Given the description of an element on the screen output the (x, y) to click on. 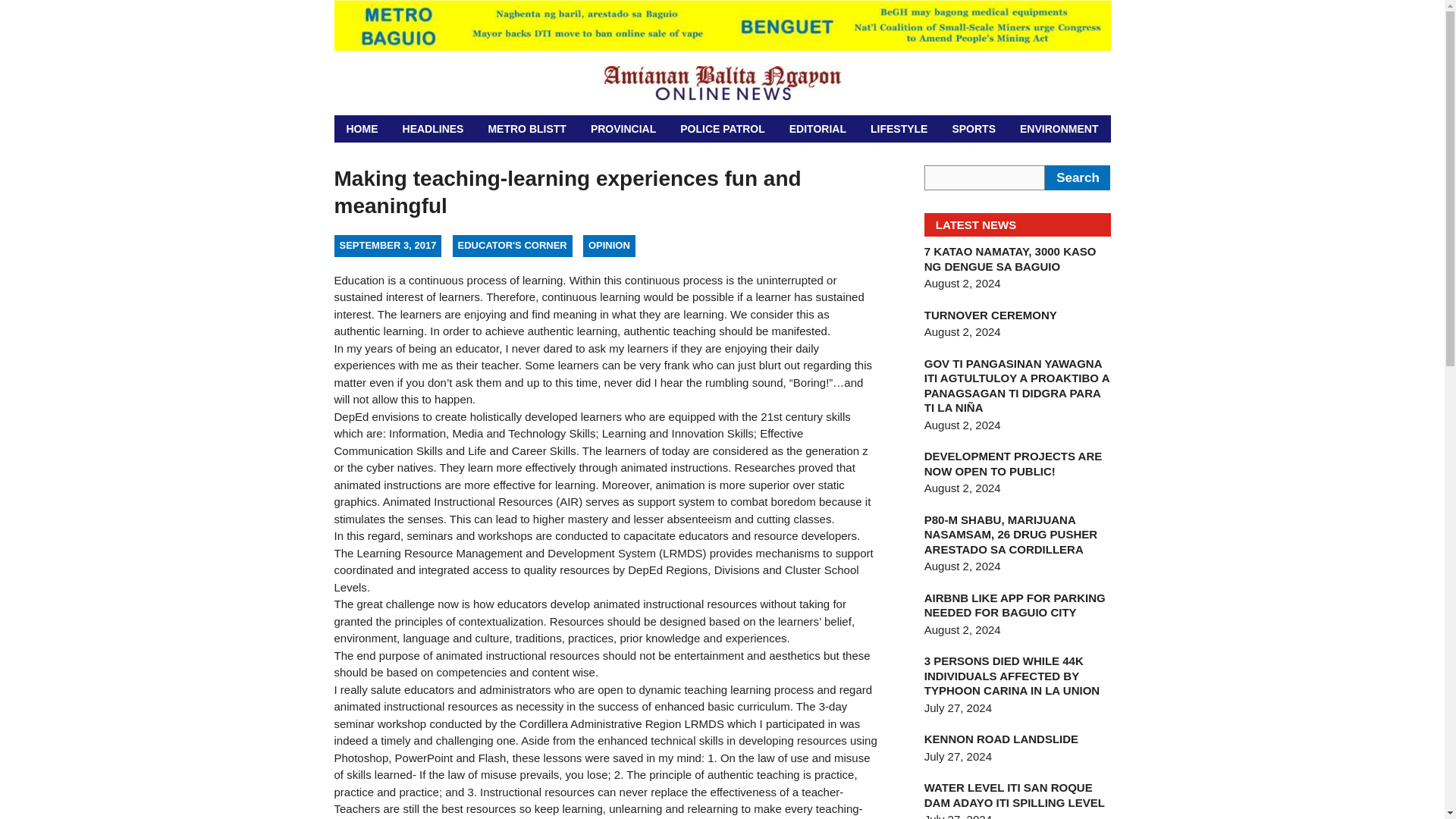
DEVELOPMENT PROJECTS ARE NOW OPEN TO PUBLIC! (1013, 463)
ENVIRONMENT (1058, 128)
KENNON ROAD LANDSLIDE (1001, 738)
TURNOVER CEREMONY (990, 314)
LIFESTYLE (898, 128)
SPORTS (973, 128)
METRO BLISTT (526, 128)
WATER LEVEL ITI SAN ROQUE DAM ADAYO ITI SPILLING LEVEL (1014, 795)
POLICE PATROL (721, 128)
Search (1077, 177)
HEADLINES (433, 128)
PROVINCIAL (623, 128)
Search (1077, 177)
